Given the description of an element on the screen output the (x, y) to click on. 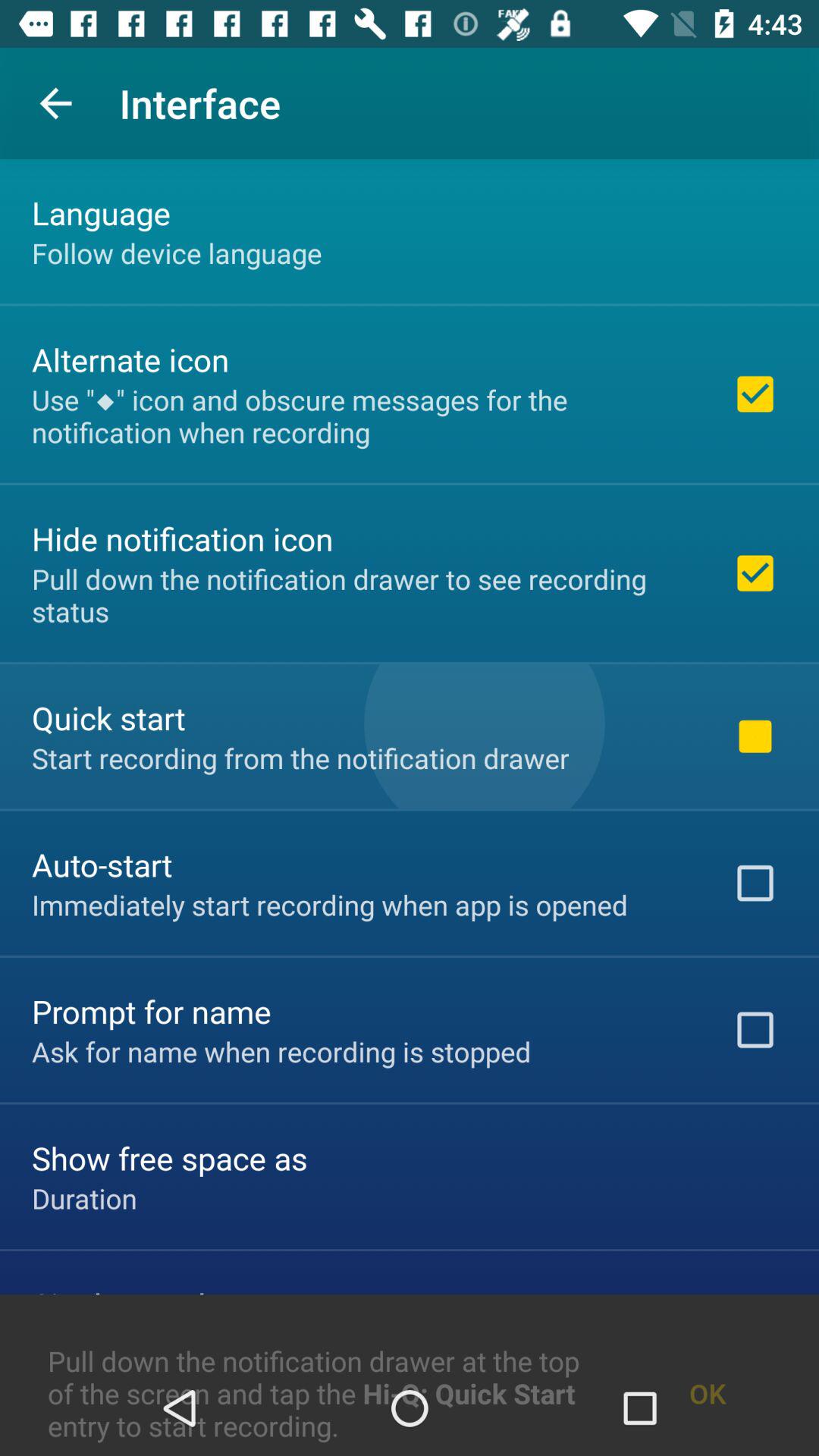
launch the follow device language (176, 252)
